Given the description of an element on the screen output the (x, y) to click on. 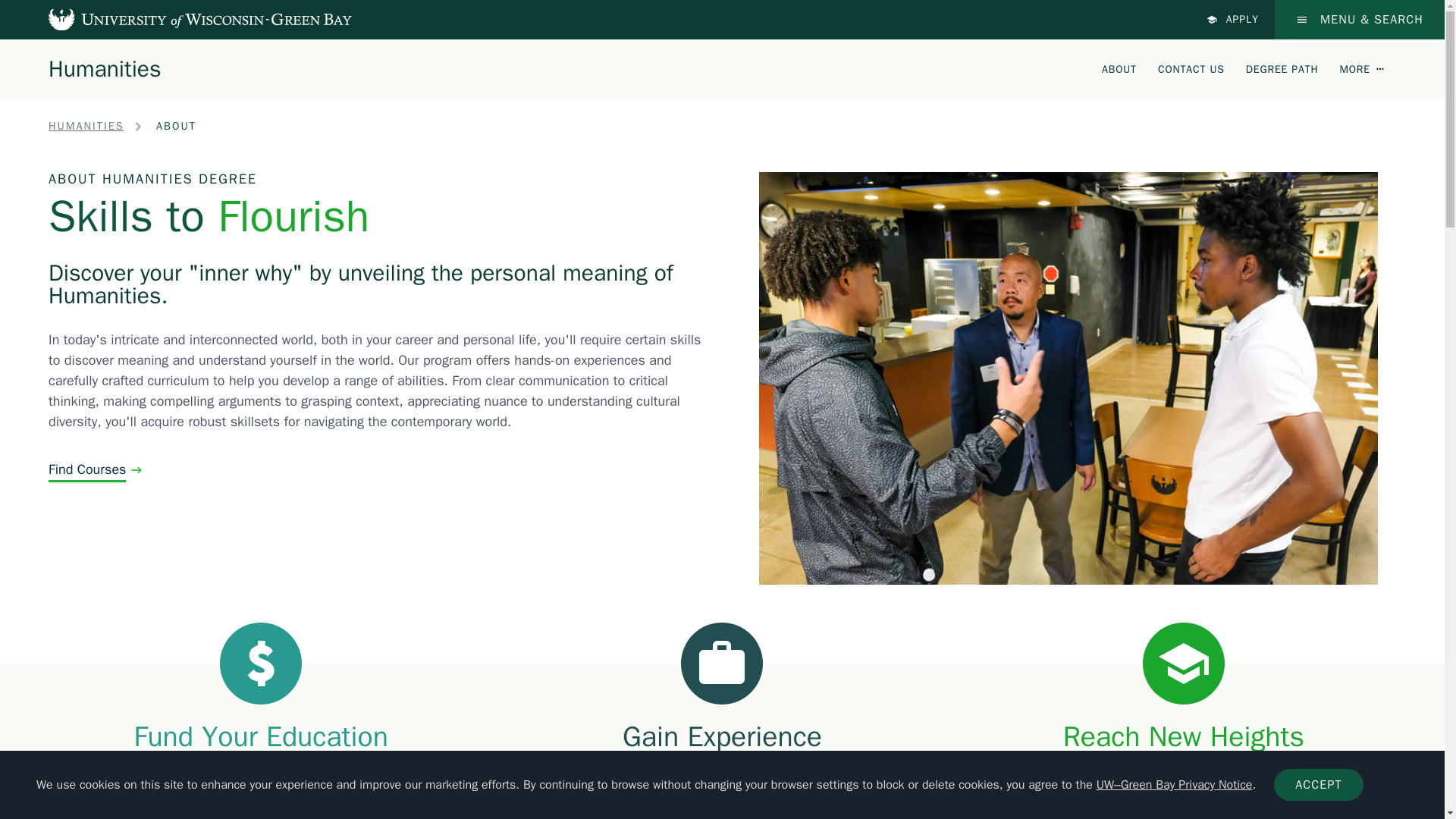
MORE (1362, 68)
Accept (1318, 784)
DEGREE PATH (1282, 68)
ABOUT (1119, 68)
APPLY (1233, 19)
CONTACT US (1190, 68)
Humanities (104, 68)
